Given the description of an element on the screen output the (x, y) to click on. 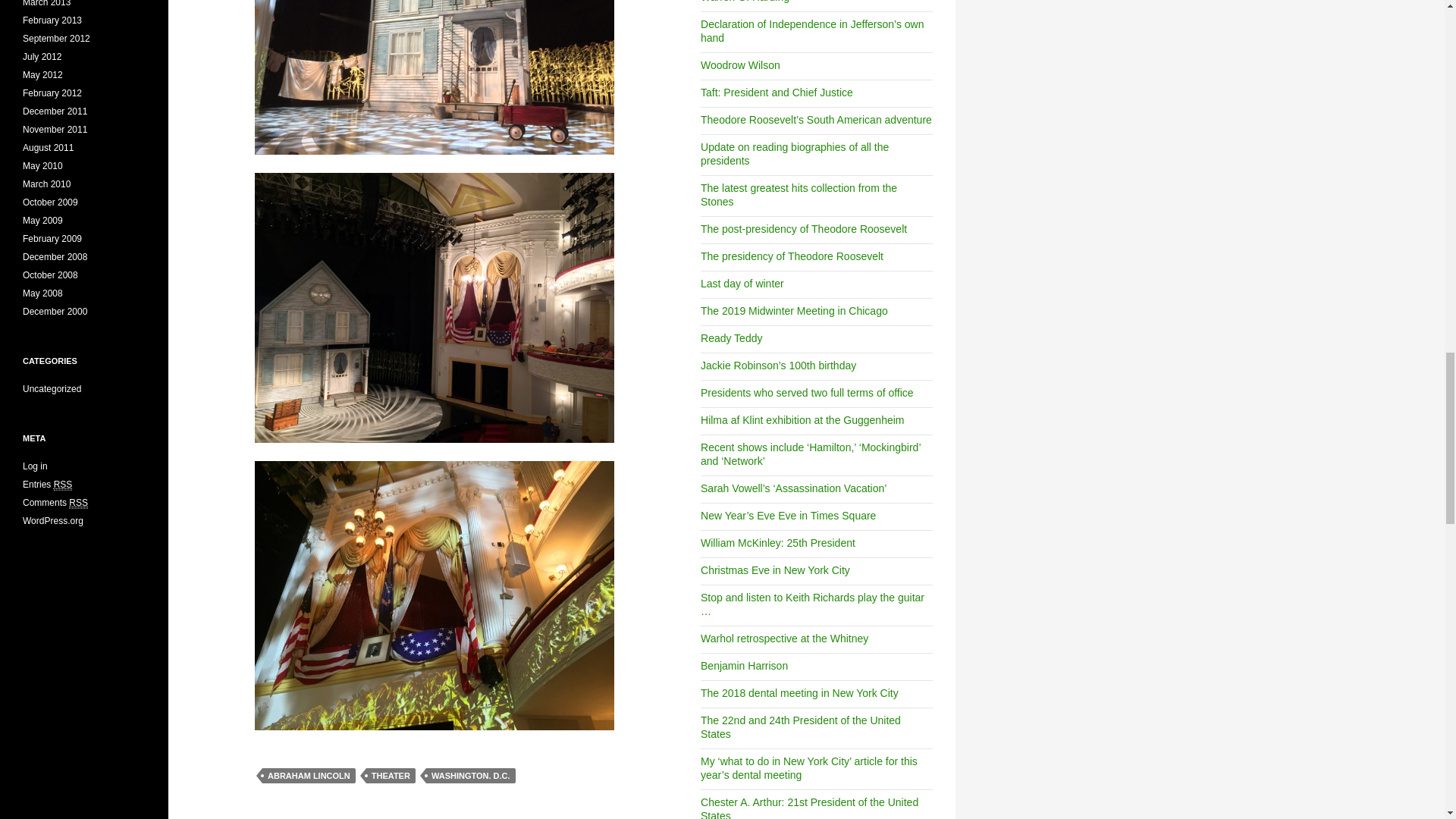
WASHINGTON. D.C. (470, 775)
Really Simple Syndication (77, 502)
ABRAHAM LINCOLN (308, 775)
THEATER (390, 775)
Really Simple Syndication (62, 484)
